Given the description of an element on the screen output the (x, y) to click on. 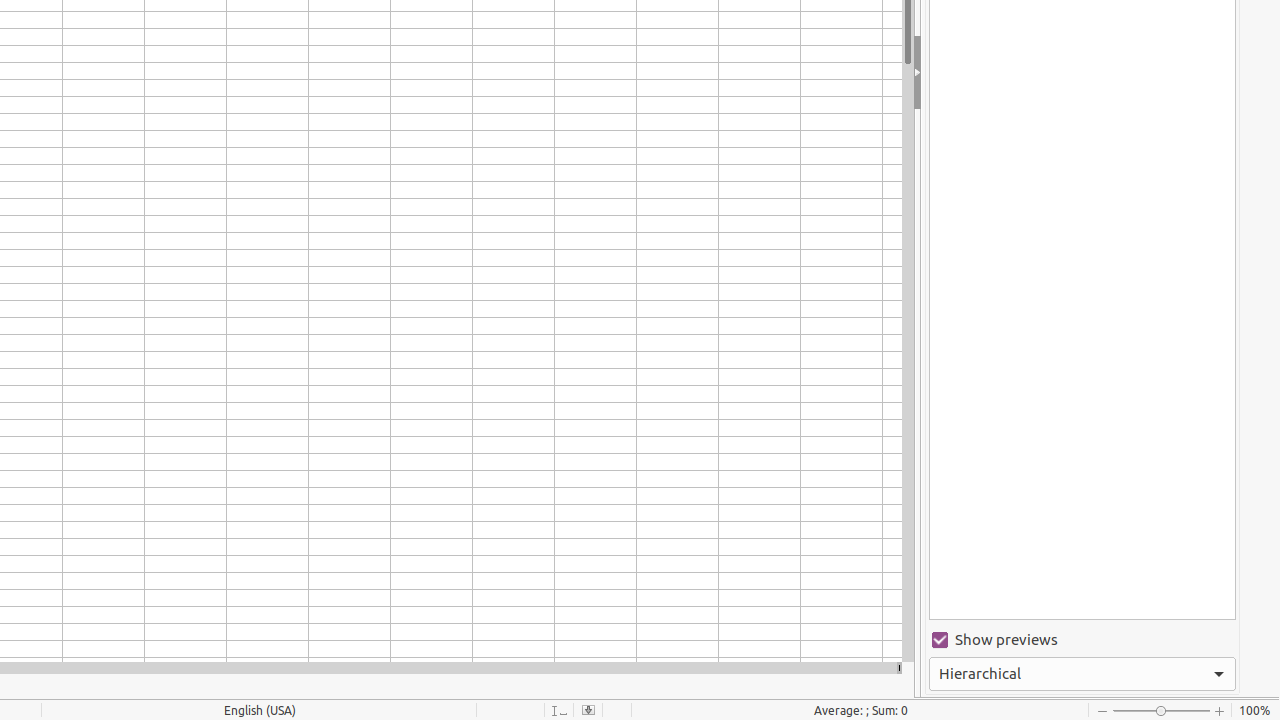
Show previews Element type: check-box (1082, 640)
